Given the description of an element on the screen output the (x, y) to click on. 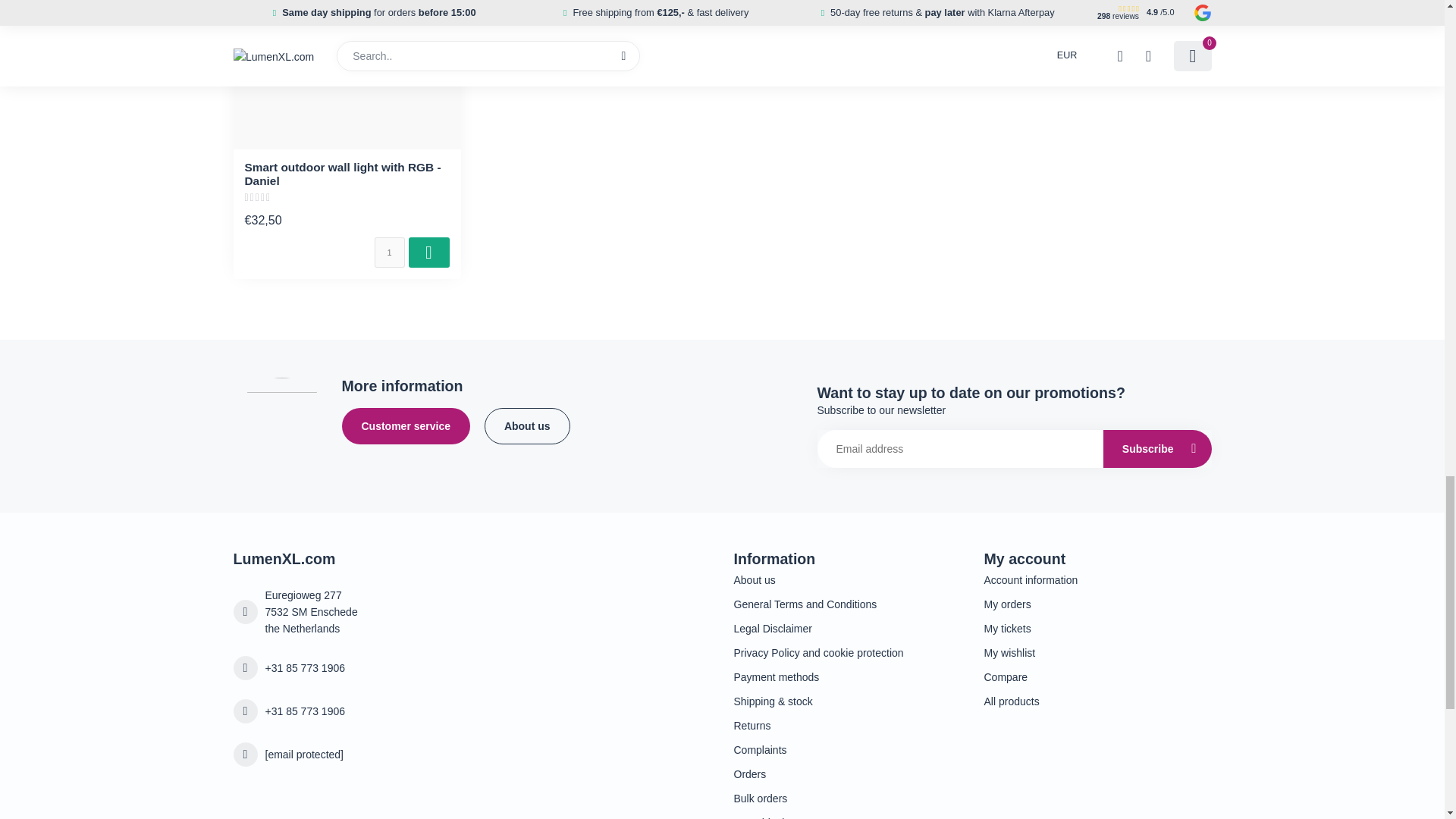
General Terms and Conditions (846, 604)
Smart outdoor wall light with RGB - Daniel (346, 74)
Privacy Policy and cookie protection (846, 652)
Orders (846, 774)
About us (846, 580)
Complaints (846, 749)
Payment methods (846, 677)
Legal Disclaimer (846, 628)
Returns (846, 725)
1 (389, 252)
